Given the description of an element on the screen output the (x, y) to click on. 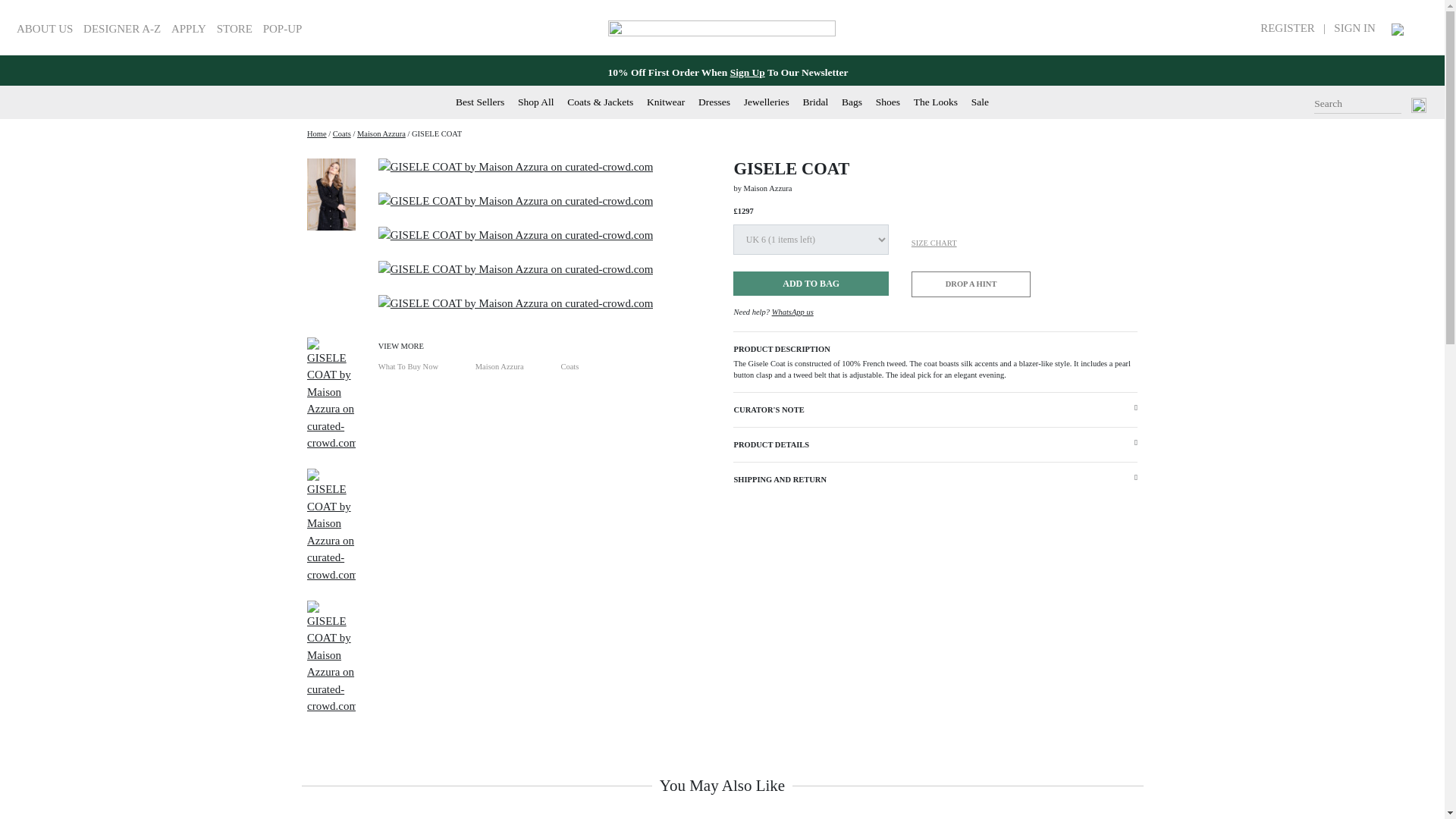
Bags (851, 102)
Curated-crowd (316, 132)
The Looks (936, 102)
Knitwear (665, 102)
ADD TO BAG (810, 283)
POP-UP (282, 28)
DESIGNER A-Z (121, 28)
Shoes (887, 102)
Shop All (536, 102)
Sale (979, 102)
Coats (341, 132)
Best Sellers (479, 102)
Bridal (815, 102)
APPLY (188, 28)
ABOUT US (44, 28)
